Given the description of an element on the screen output the (x, y) to click on. 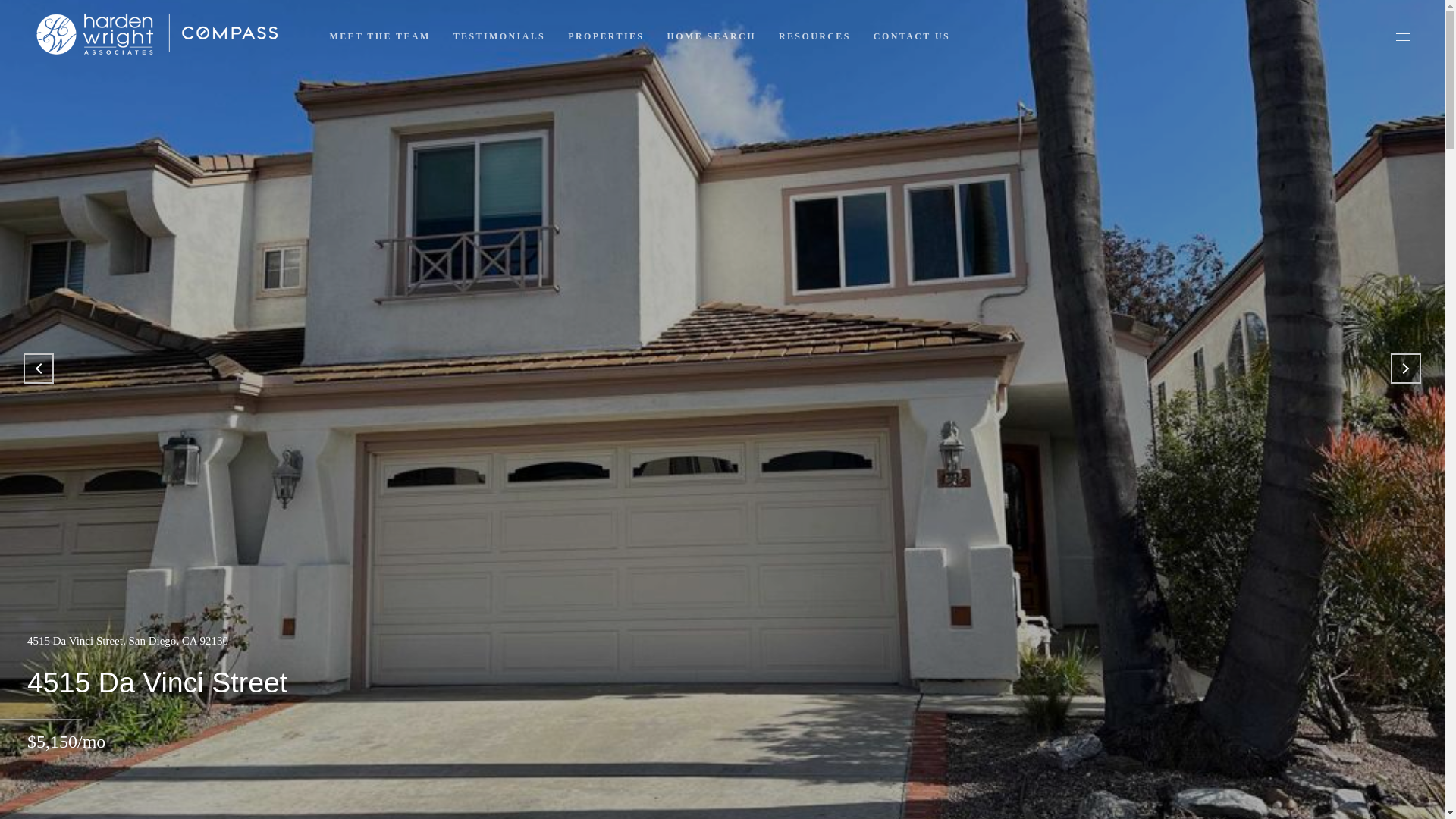
PROPERTIES (605, 36)
RESOURCES (814, 36)
MEET THE TEAM (379, 36)
TESTIMONIALS (499, 36)
HOME SEARCH (710, 36)
CONTACT US (911, 36)
